Given the description of an element on the screen output the (x, y) to click on. 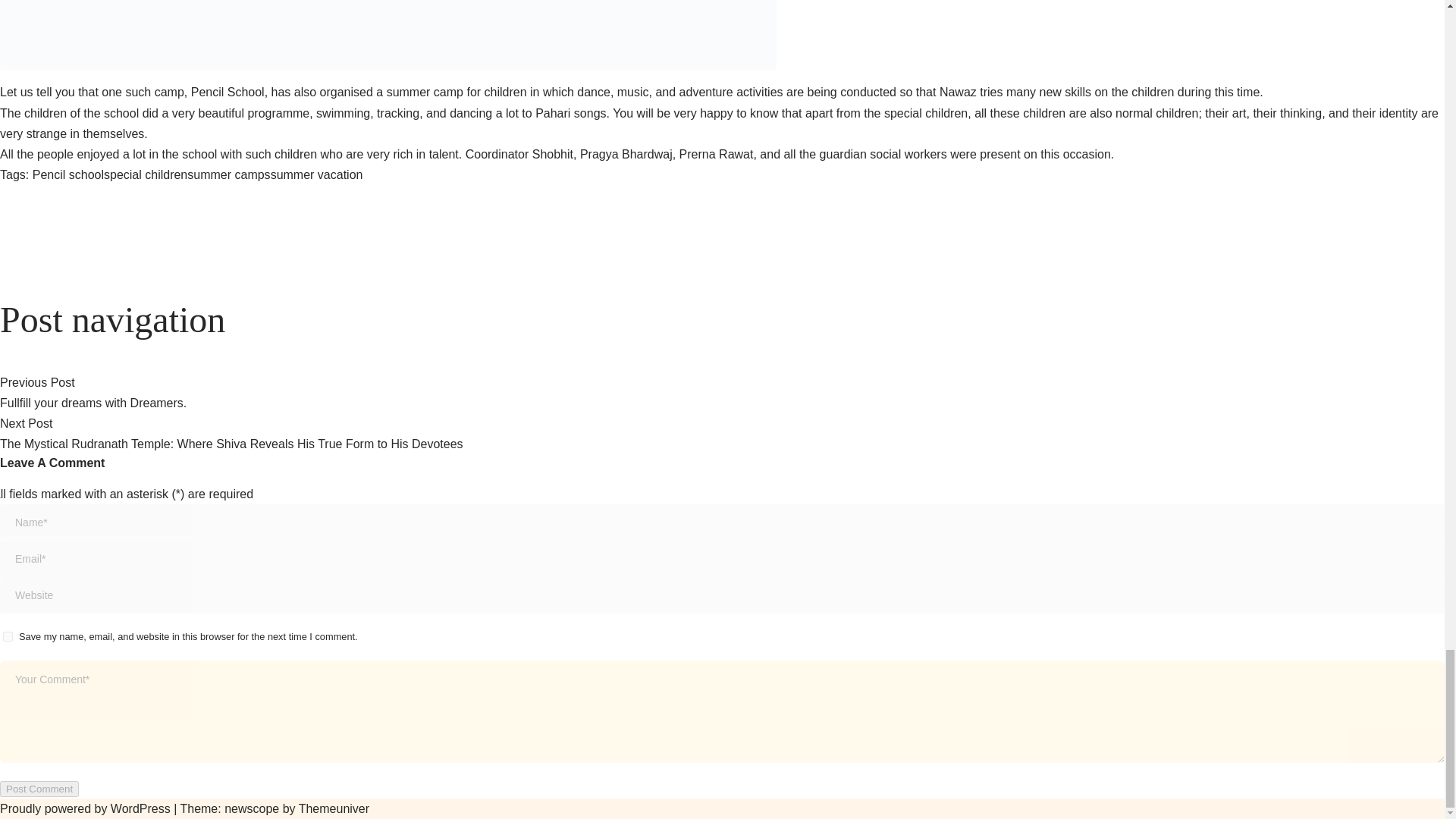
yes (7, 636)
